Given the description of an element on the screen output the (x, y) to click on. 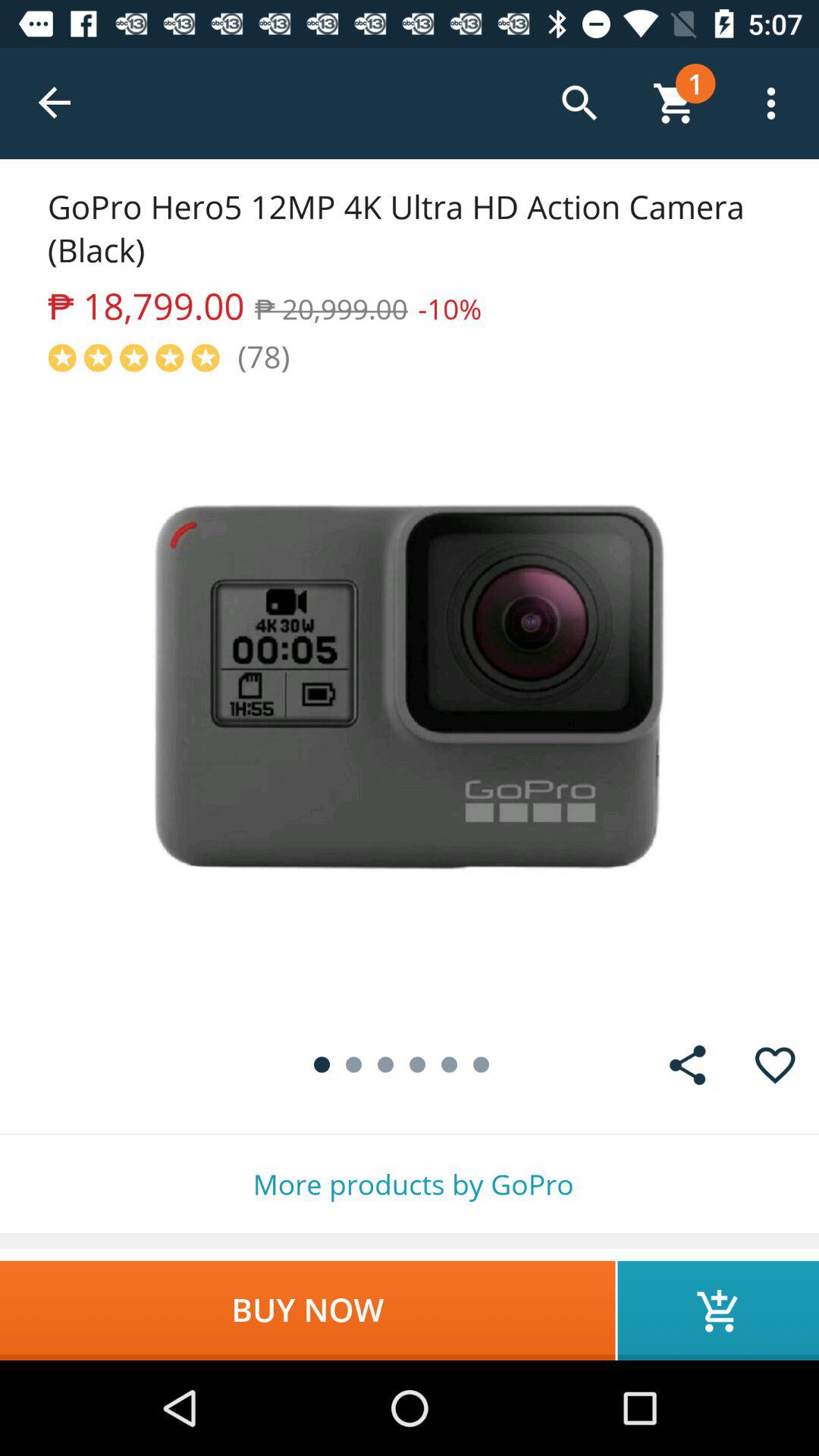
choose icon to the right of the buy now (718, 1310)
